Given the description of an element on the screen output the (x, y) to click on. 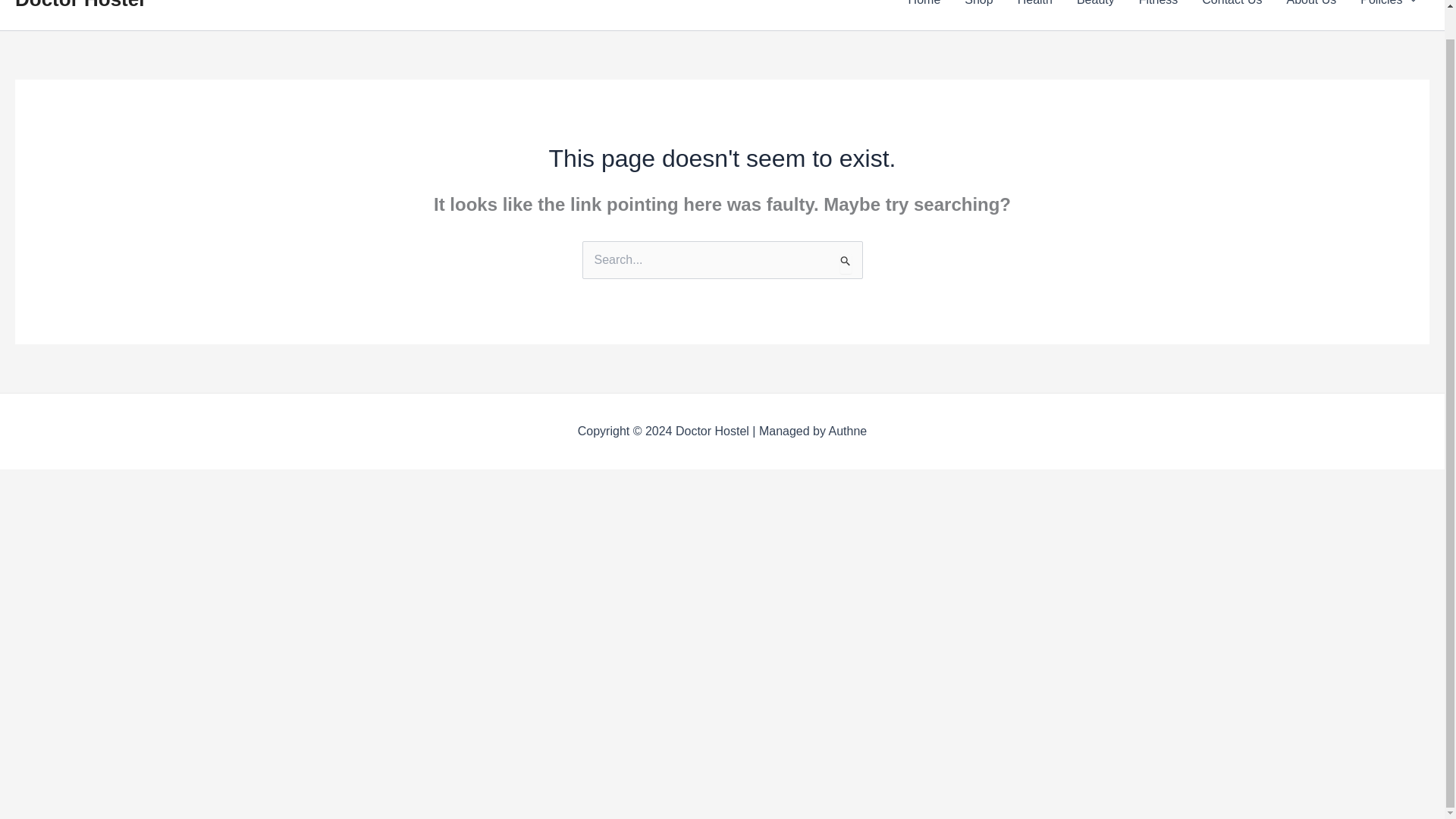
Contact Us (1231, 15)
Health (1035, 15)
Policies (1388, 15)
Home (924, 15)
About Us (1311, 15)
Beauty (1095, 15)
Shop (978, 15)
Fitness (1158, 15)
Doctor Hostel (79, 5)
